Given the description of an element on the screen output the (x, y) to click on. 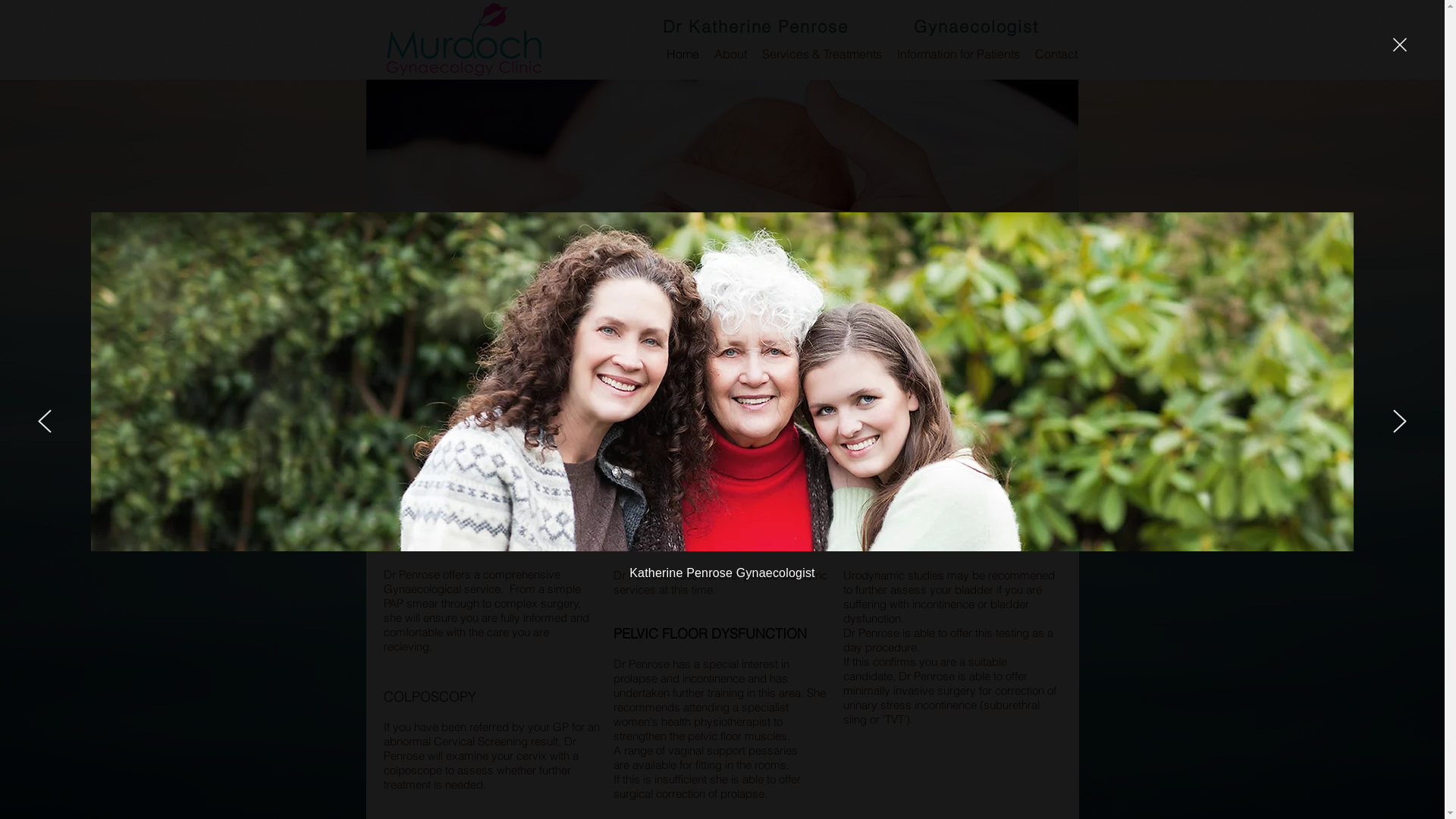
> Element type: text (761, 434)
> Element type: text (912, 432)
Information for Patients Element type: text (957, 53)
Home Element type: text (682, 53)
Services & Treatments Element type: text (820, 53)
> Element type: text (1061, 432)
IN-OFFICE PROCEDURES Element type: text (837, 383)
Contact Element type: text (1055, 53)
About Element type: text (730, 53)
GYNAECOLOGY Element type: text (695, 377)
OBSTETRICS Element type: text (980, 377)
